Given the description of an element on the screen output the (x, y) to click on. 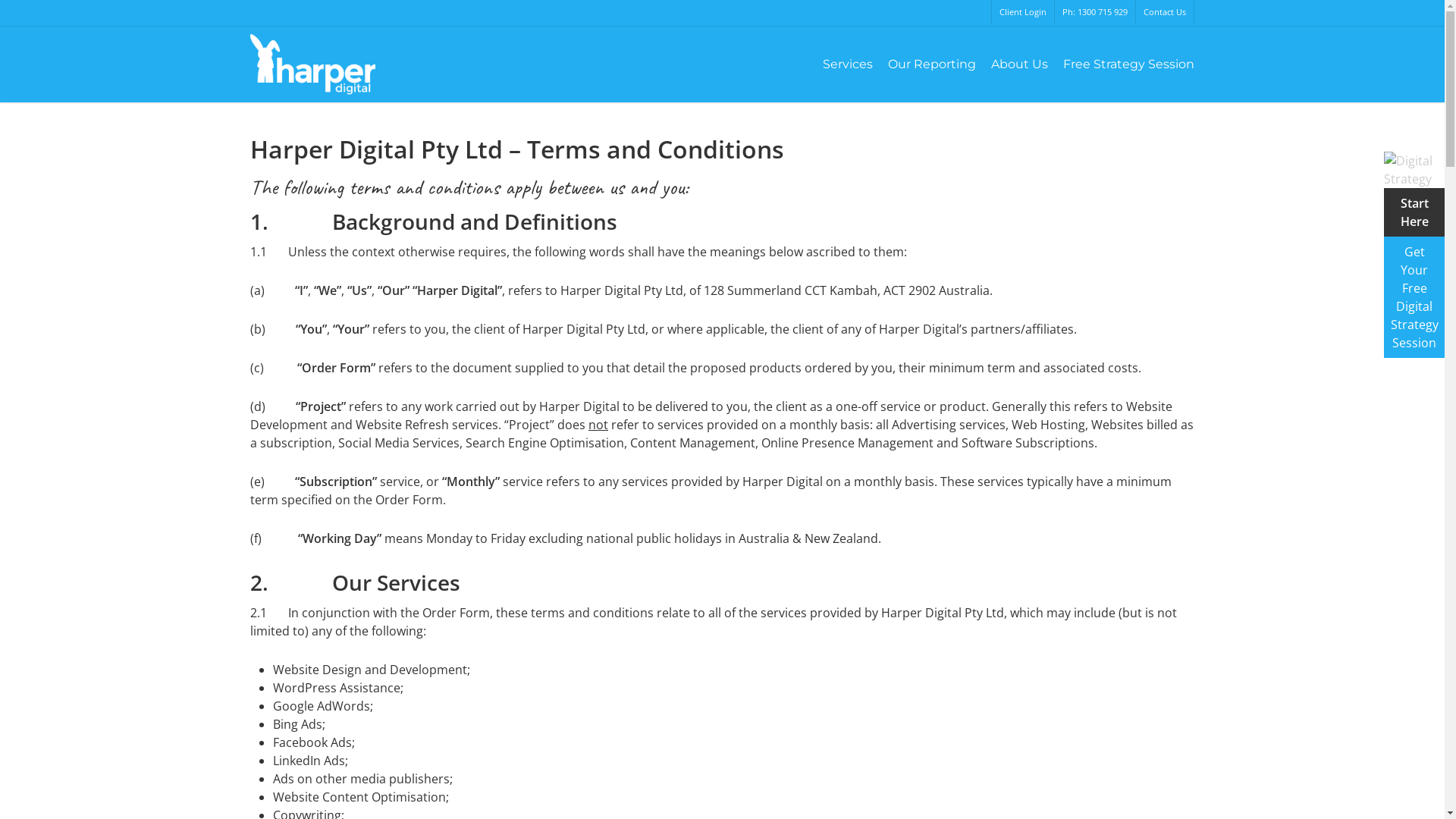
Services Element type: text (847, 64)
Start Here
Get Your Free Digital Strategy Session Element type: text (1413, 263)
Contact Us Element type: text (1164, 11)
About Us Element type: text (1019, 64)
Client Login Element type: text (1022, 11)
Our Reporting Element type: text (931, 64)
Free Strategy Session Element type: text (1128, 64)
Ph: 1300 715 929 Element type: text (1094, 11)
